Given the description of an element on the screen output the (x, y) to click on. 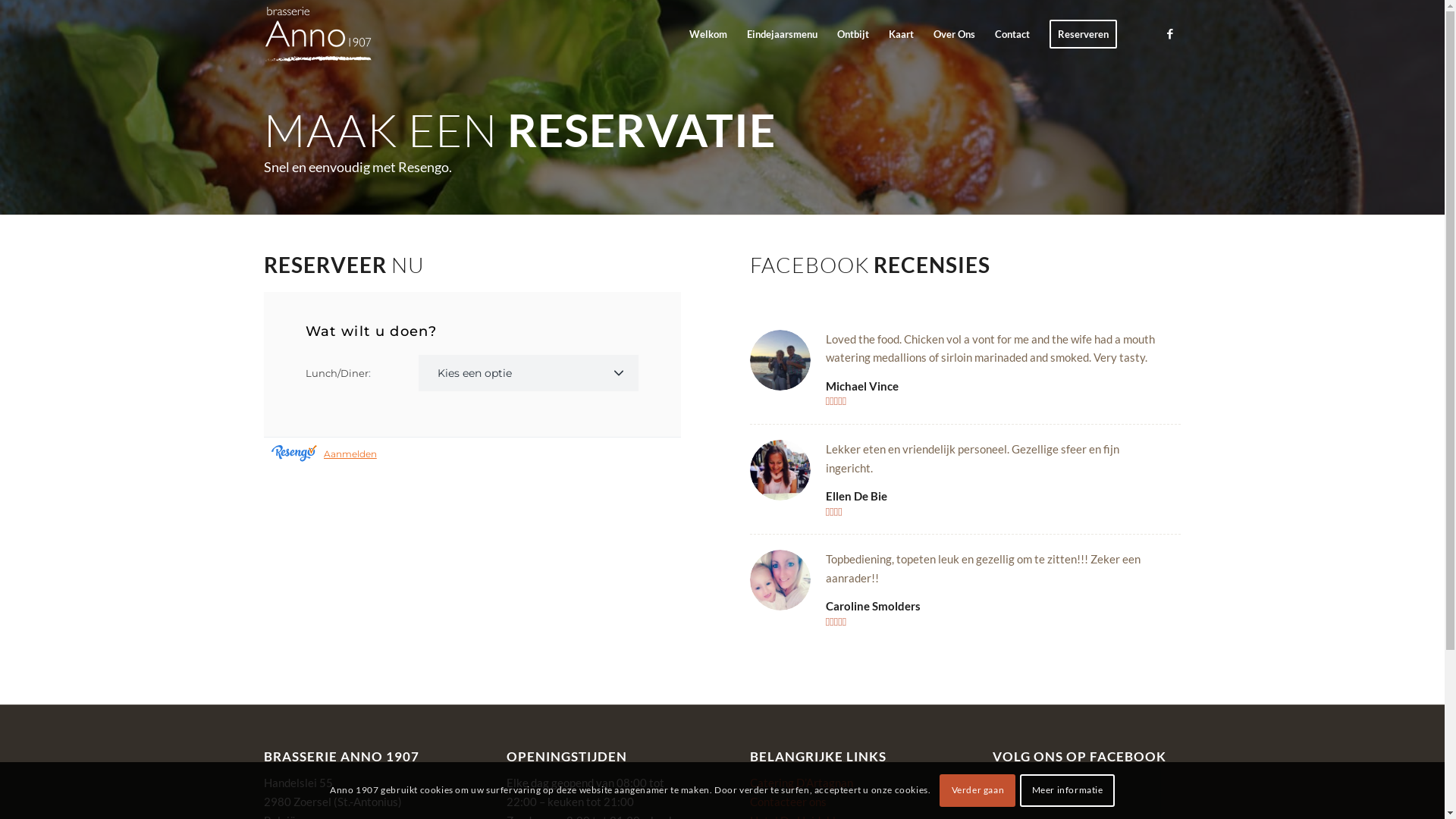
Meer informatie Element type: text (1066, 790)
Aanmelden Element type: text (349, 453)
Over Ons Element type: text (954, 33)
Kaart Element type: text (900, 33)
Eindejaarsmenu Element type: text (782, 33)
Contact Element type: text (1011, 33)
Resengo - Reservations made easy Element type: hover (293, 454)
Contacteer ons Element type: text (787, 801)
Reserveren Element type: text (1082, 33)
Welkom Element type: text (708, 33)
Ontbijt Element type: text (852, 33)
Verder gaan Element type: text (977, 790)
Facebook Element type: hover (1169, 32)
Anno 1907 logo wit Element type: hover (318, 33)
